Given the description of an element on the screen output the (x, y) to click on. 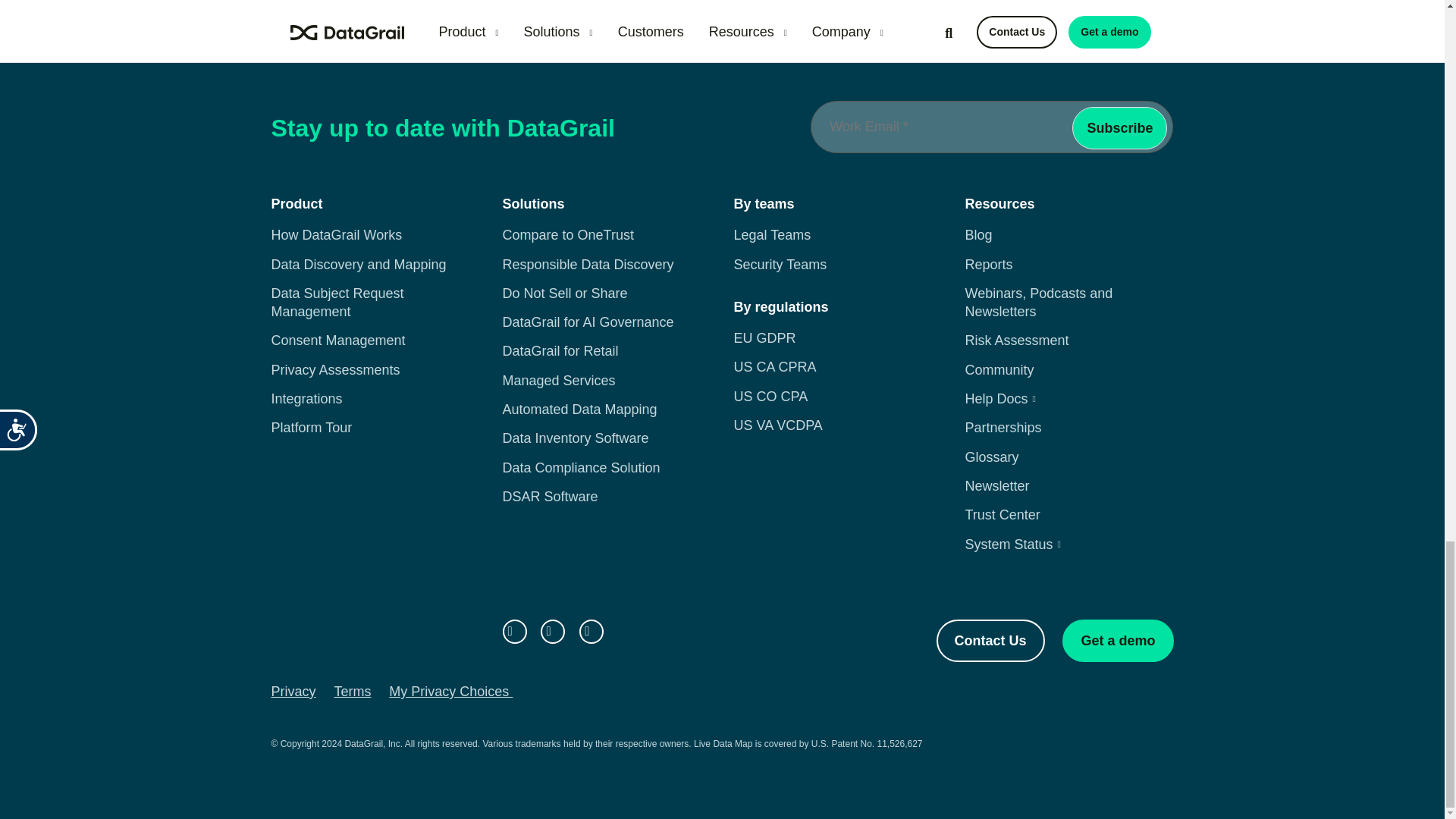
Subscribe (1119, 128)
